Given the description of an element on the screen output the (x, y) to click on. 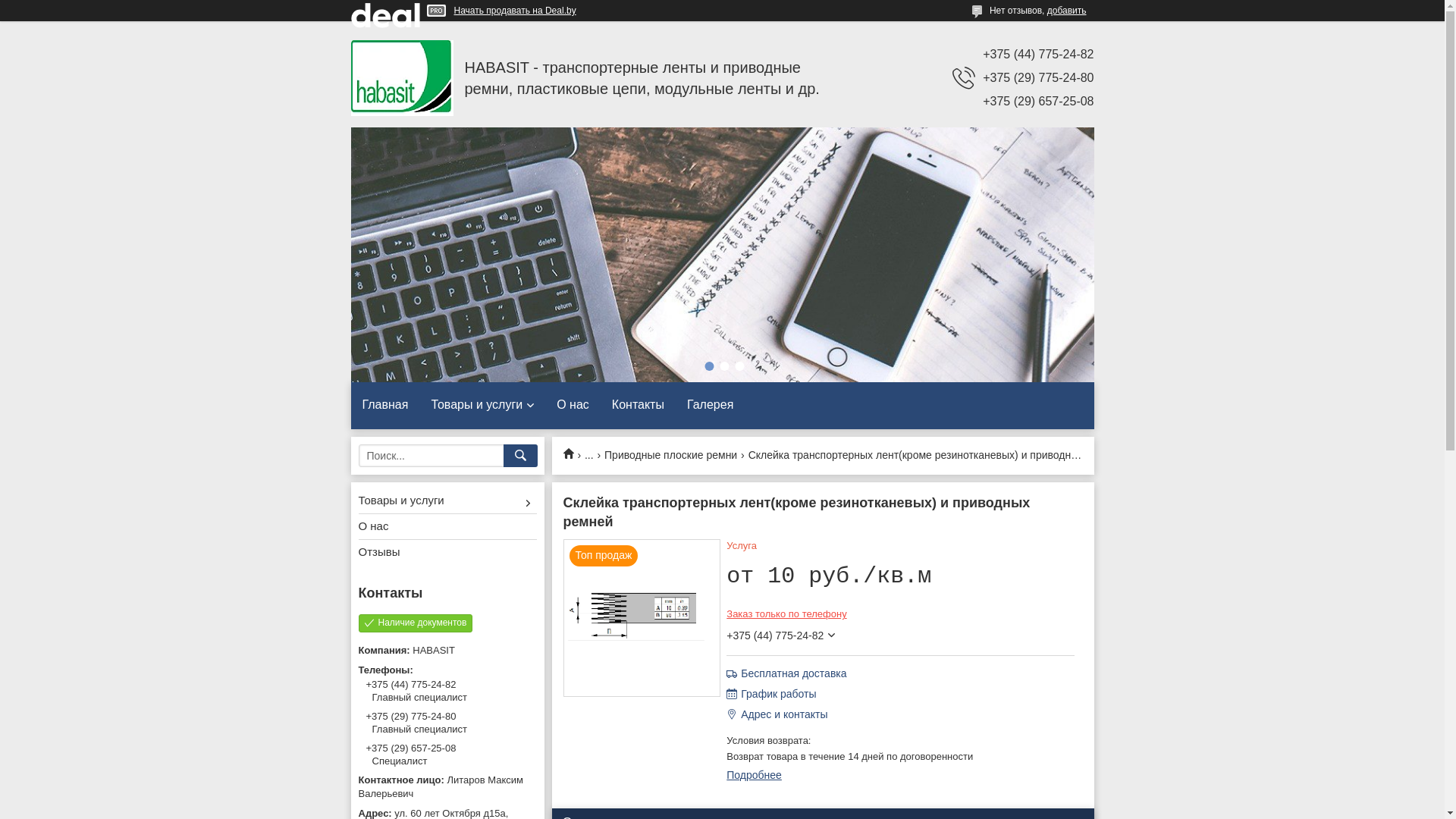
Habasit Element type: hover (572, 453)
HABASIT Element type: hover (401, 78)
